Given the description of an element on the screen output the (x, y) to click on. 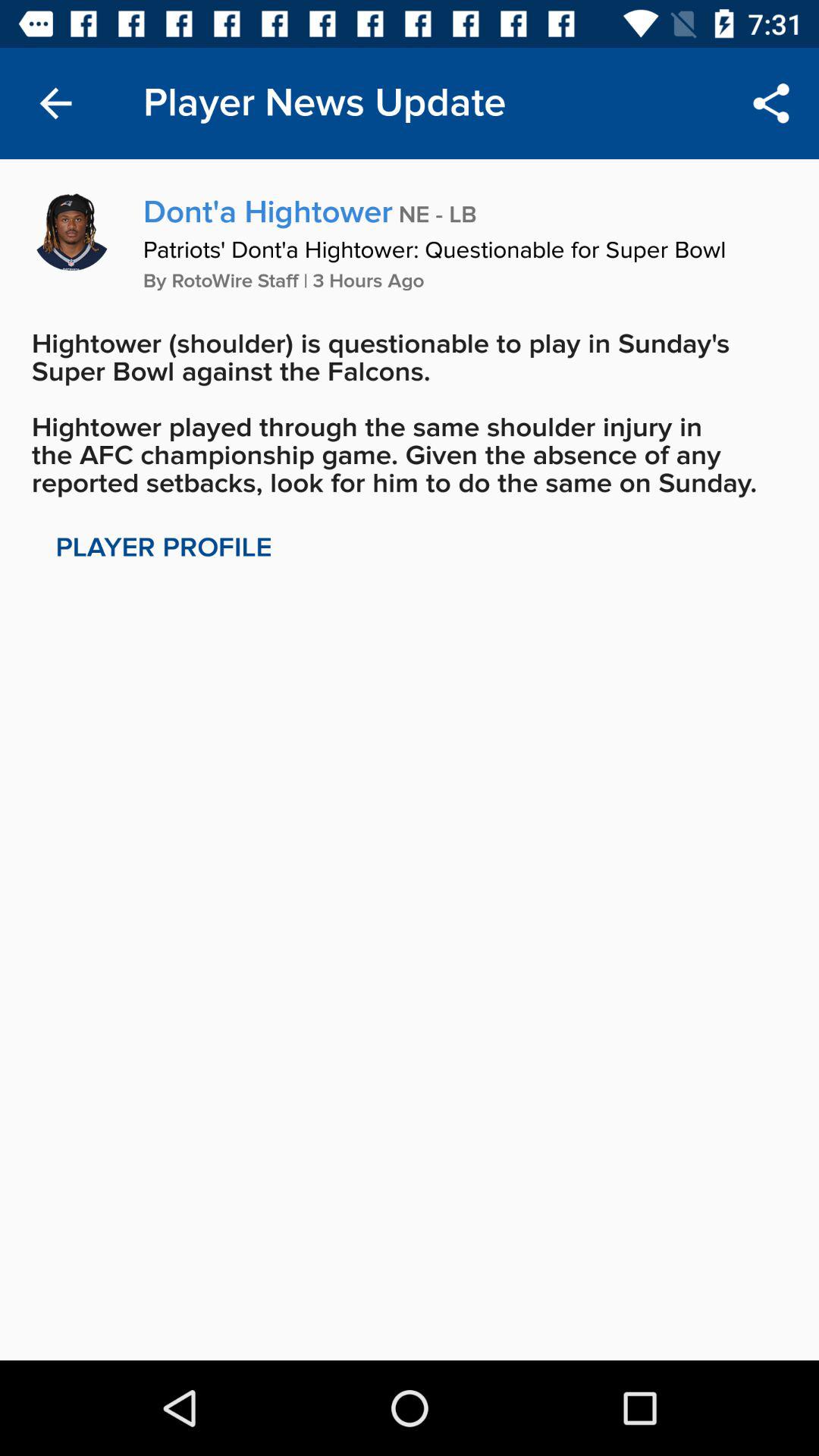
press the icon next to the player news update item (55, 103)
